Given the description of an element on the screen output the (x, y) to click on. 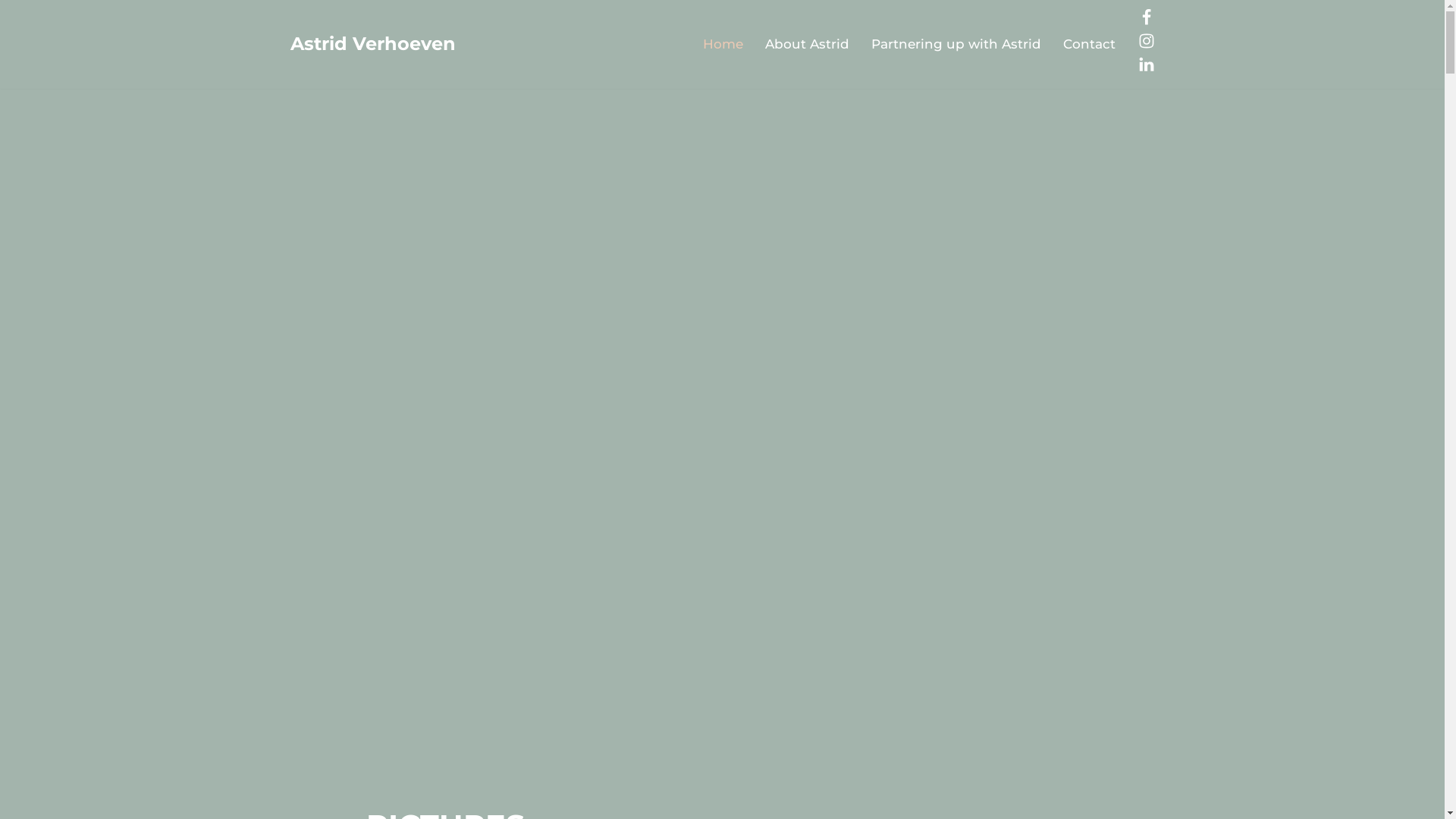
LinkedIN Element type: hover (1145, 67)
Instagram Element type: hover (1145, 44)
Spring naar de inhoud Element type: text (11, 31)
Astrid Verhoeven Element type: text (372, 43)
Contact Element type: text (1089, 44)
Partnering up with Astrid Element type: text (955, 44)
About Astrid Element type: text (806, 44)
Home Element type: text (722, 44)
Facebook Element type: hover (1145, 20)
